Given the description of an element on the screen output the (x, y) to click on. 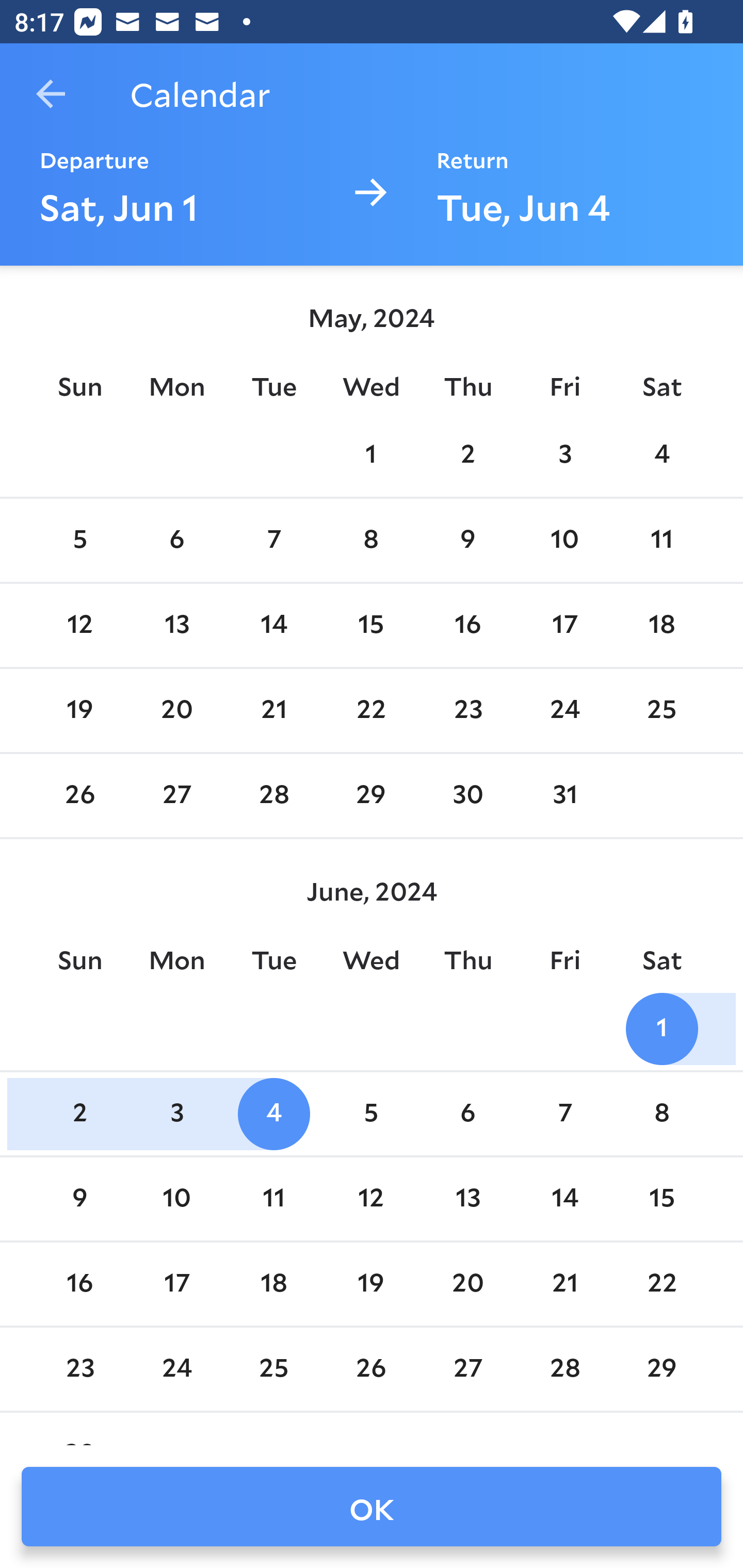
Navigate up (50, 93)
1 (371, 454)
2 (467, 454)
3 (565, 454)
4 (661, 454)
5 (79, 540)
6 (177, 540)
7 (273, 540)
8 (371, 540)
9 (467, 540)
10 (565, 540)
11 (661, 540)
12 (79, 625)
13 (177, 625)
14 (273, 625)
15 (371, 625)
16 (467, 625)
17 (565, 625)
18 (661, 625)
19 (79, 710)
20 (177, 710)
21 (273, 710)
22 (371, 710)
23 (467, 710)
24 (565, 710)
25 (661, 710)
26 (79, 796)
27 (177, 796)
28 (273, 796)
29 (371, 796)
30 (467, 796)
31 (565, 796)
1 (661, 1028)
2 (79, 1114)
3 (177, 1114)
4 (273, 1114)
5 (371, 1114)
6 (467, 1114)
7 (565, 1114)
8 (661, 1114)
9 (79, 1199)
10 (177, 1199)
11 (273, 1199)
12 (371, 1199)
13 (467, 1199)
14 (565, 1199)
15 (661, 1199)
16 (79, 1284)
17 (177, 1284)
18 (273, 1284)
